Given the description of an element on the screen output the (x, y) to click on. 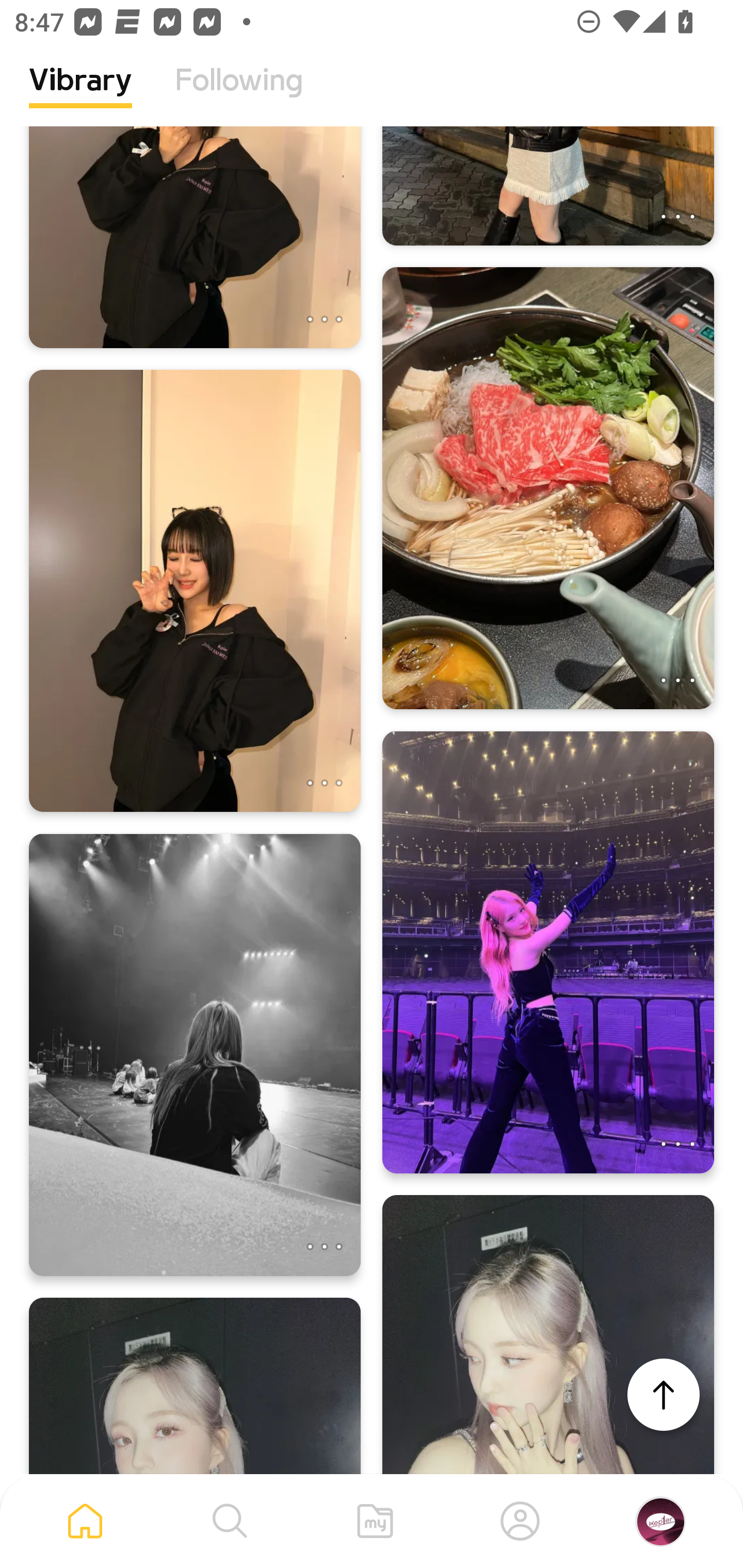
Vibrary (80, 95)
Following (239, 95)
